Given the description of an element on the screen output the (x, y) to click on. 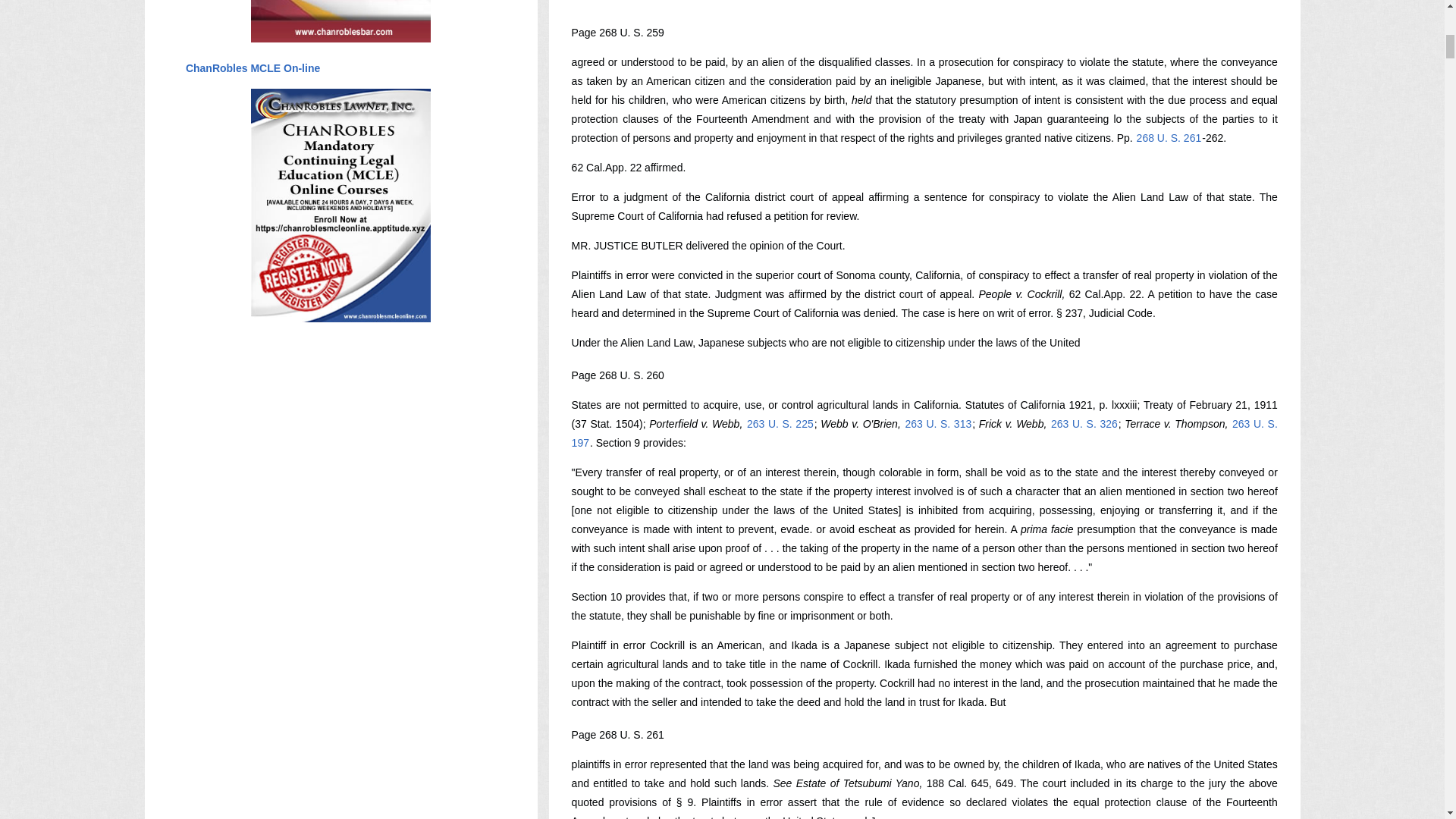
Page 268 U. S. 260 (617, 375)
263 U. S. 225 (779, 423)
263 U. S. 326 (1083, 423)
Page 268 U. S. 259 (617, 32)
263 U. S. 313 (938, 423)
Page 268 U. S. 261 (617, 734)
